Given the description of an element on the screen output the (x, y) to click on. 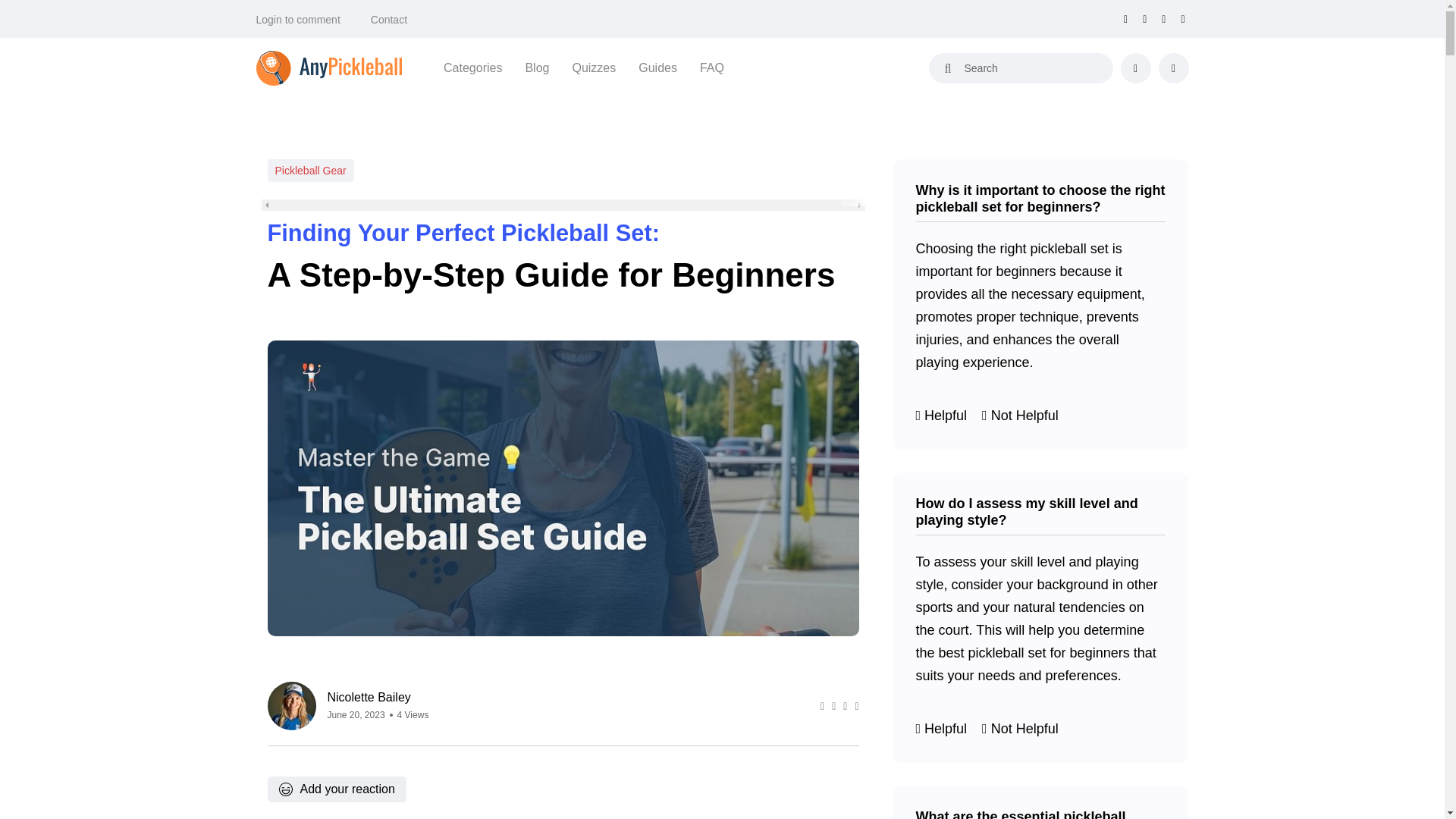
Categories (473, 67)
Login to comment (298, 19)
Contact (389, 19)
